Given the description of an element on the screen output the (x, y) to click on. 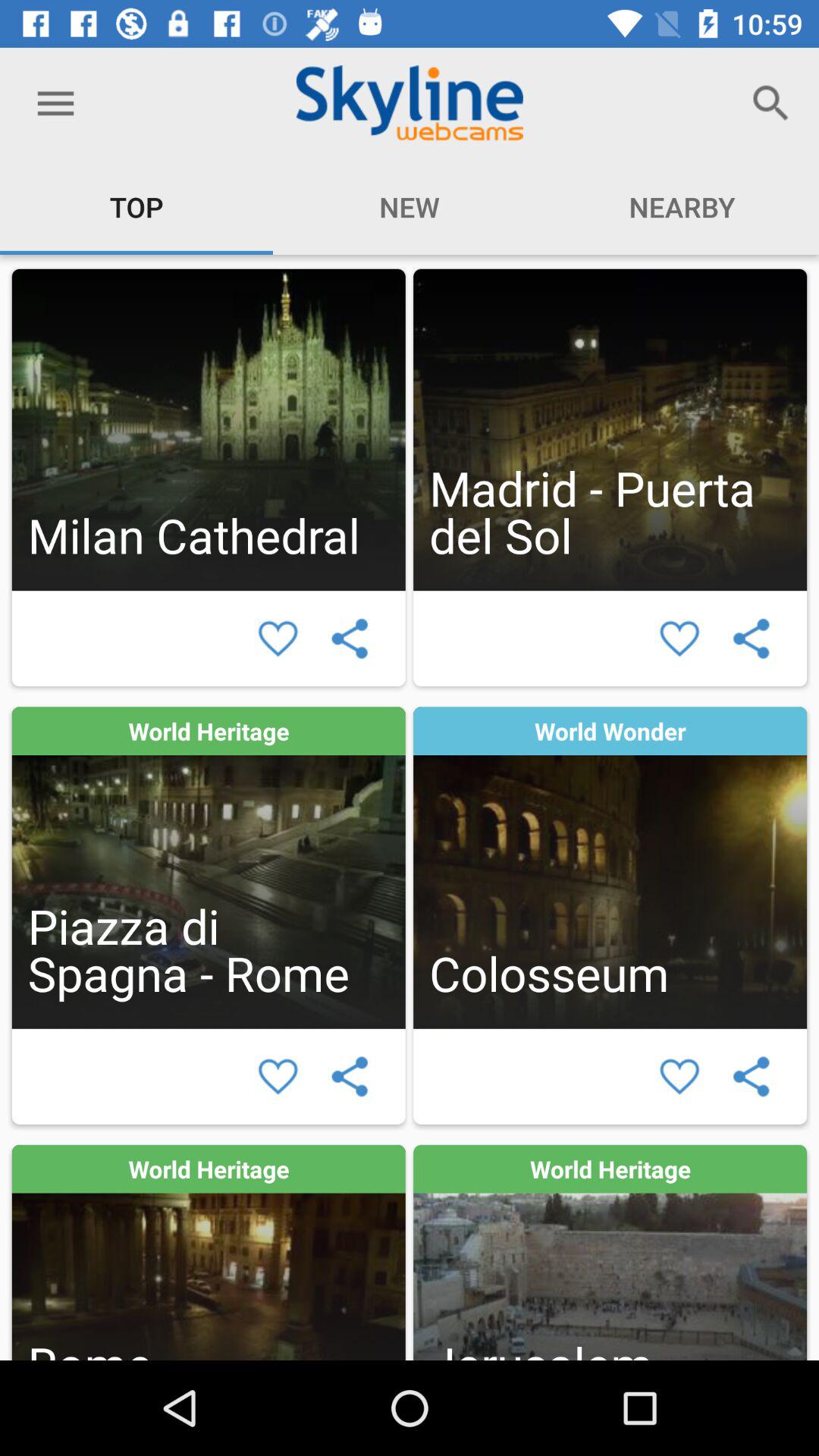
save it (278, 1076)
